Given the description of an element on the screen output the (x, y) to click on. 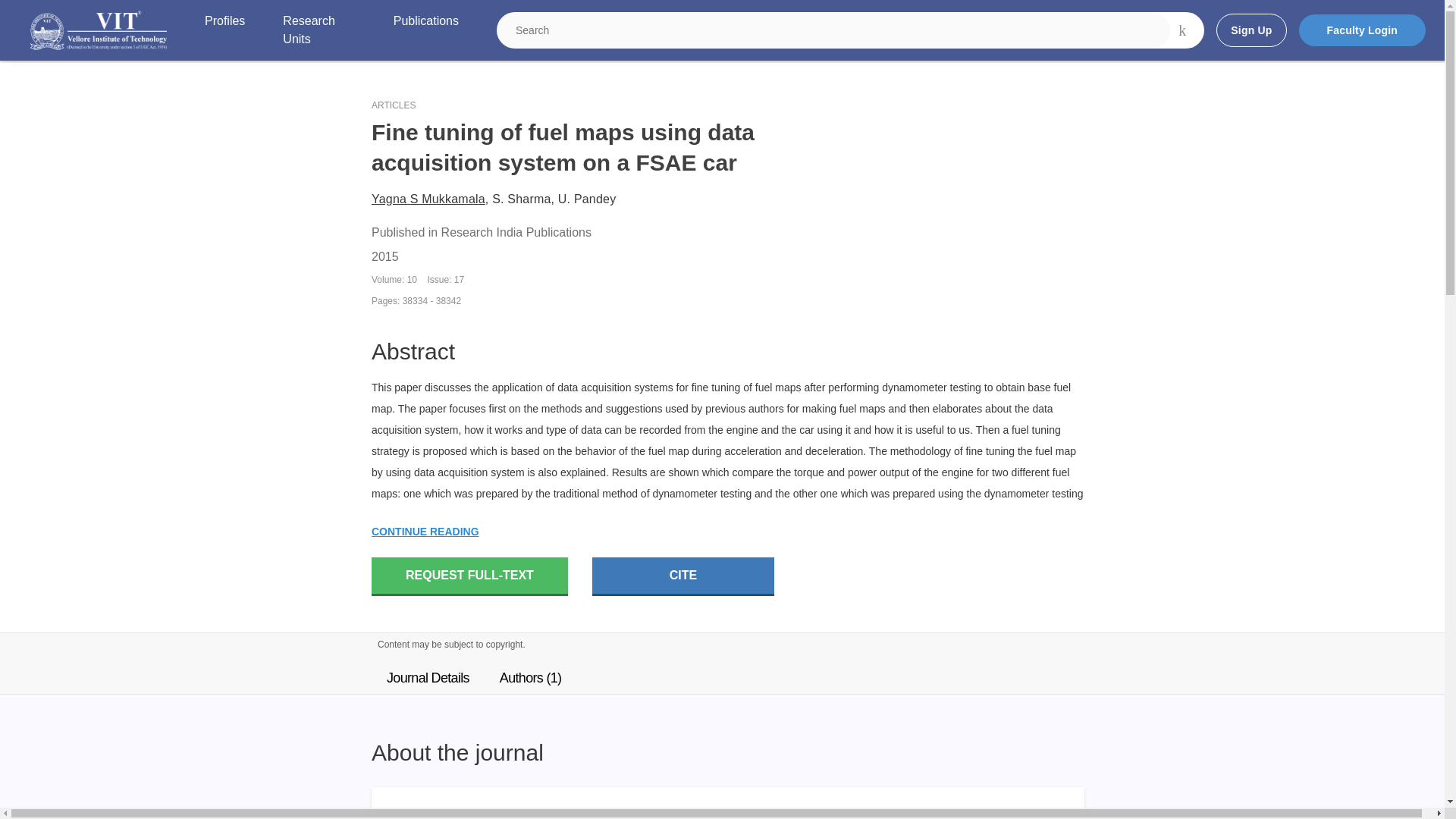
CITE (683, 576)
Yagna S Mukkamala (427, 198)
Profiles (224, 30)
Research Units (318, 30)
Journal Details (427, 677)
Publications (425, 30)
Faculty Login (1361, 29)
Institution logo (98, 30)
Sign Up (1250, 29)
REQUEST FULL-TEXT (469, 576)
